Given the description of an element on the screen output the (x, y) to click on. 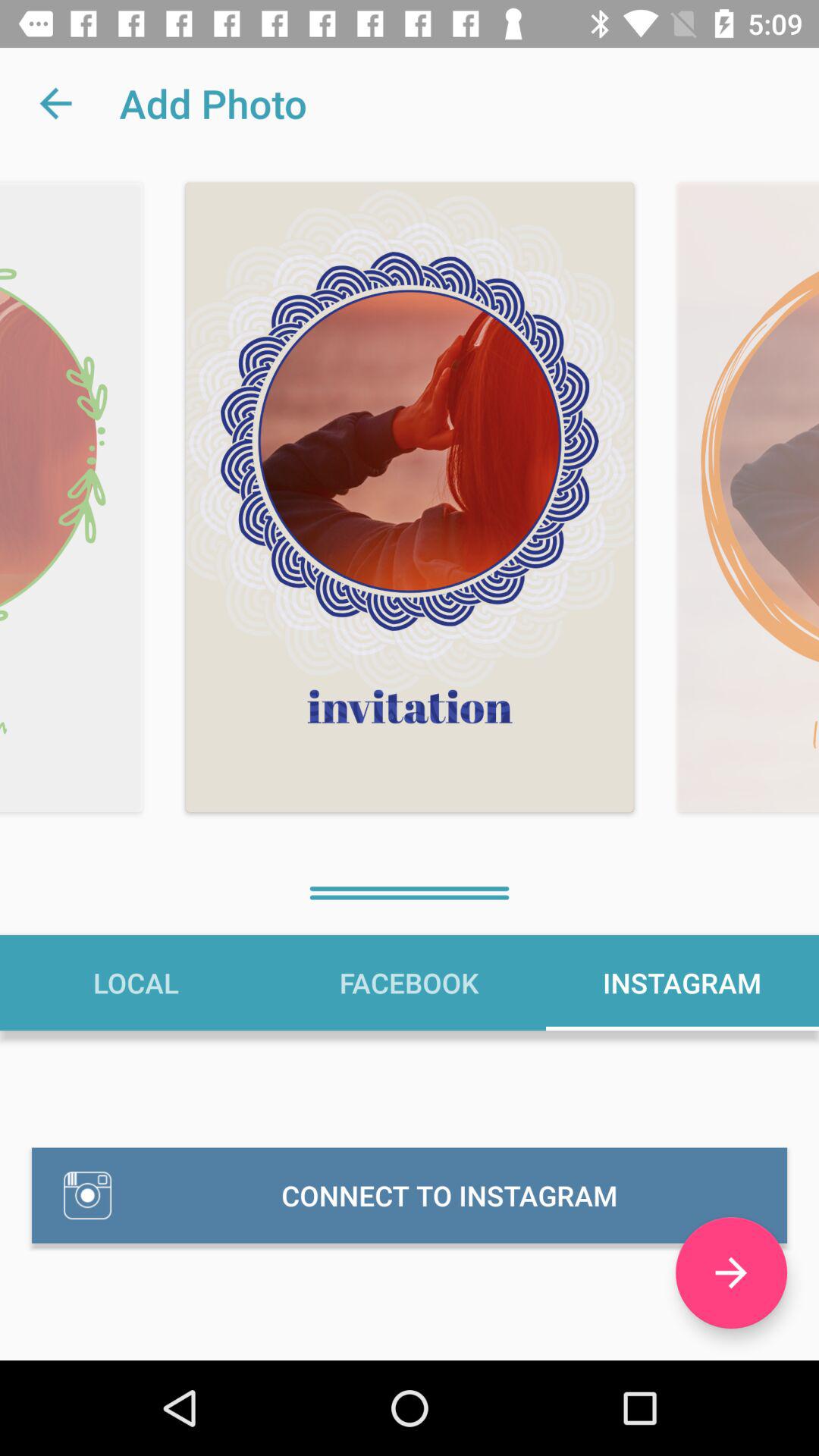
scroll to the connect to instagram item (409, 1195)
